Given the description of an element on the screen output the (x, y) to click on. 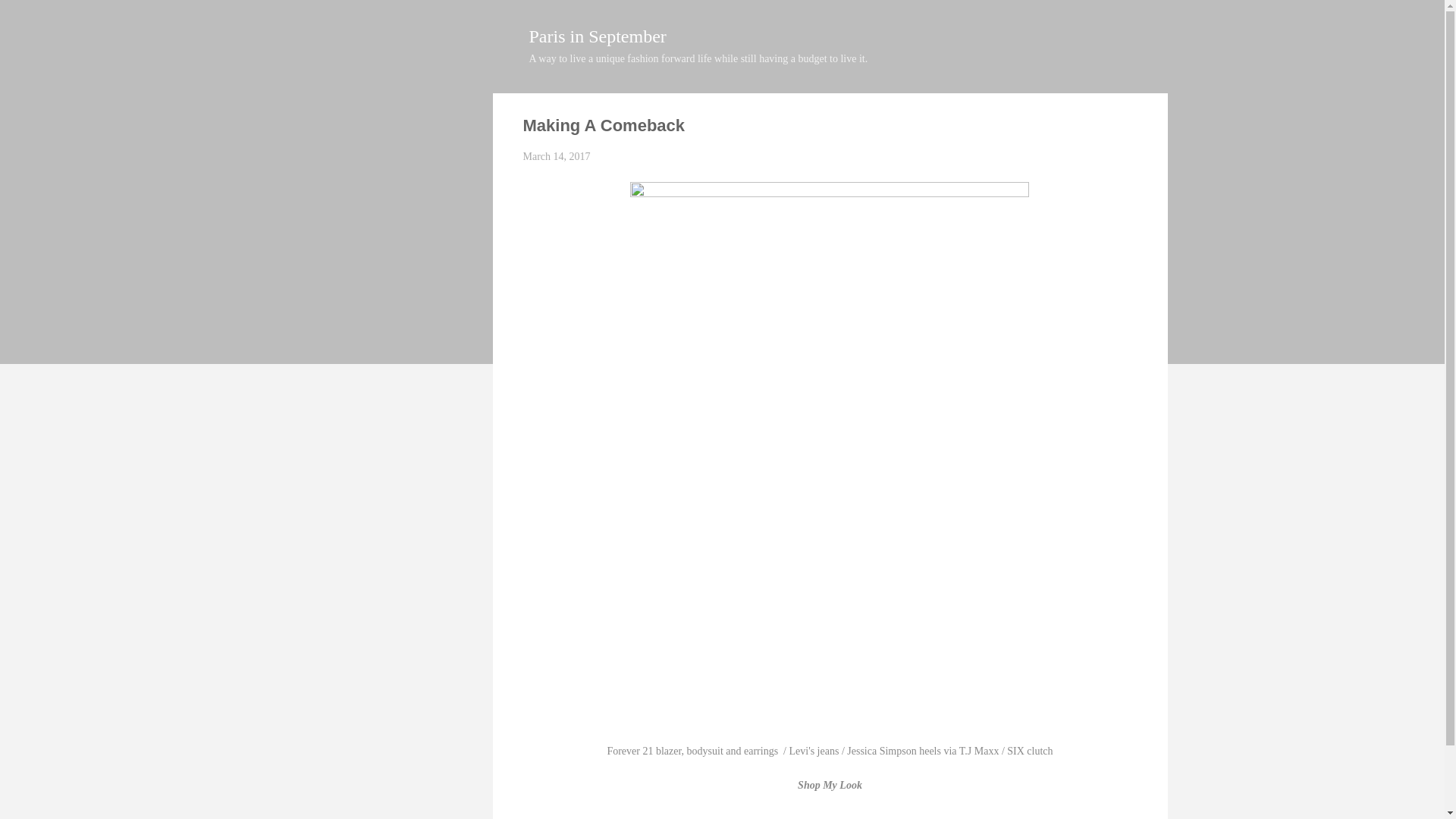
Search (28, 18)
Paris in September (597, 35)
March 14, 2017 (556, 156)
permanent link (556, 156)
